Given the description of an element on the screen output the (x, y) to click on. 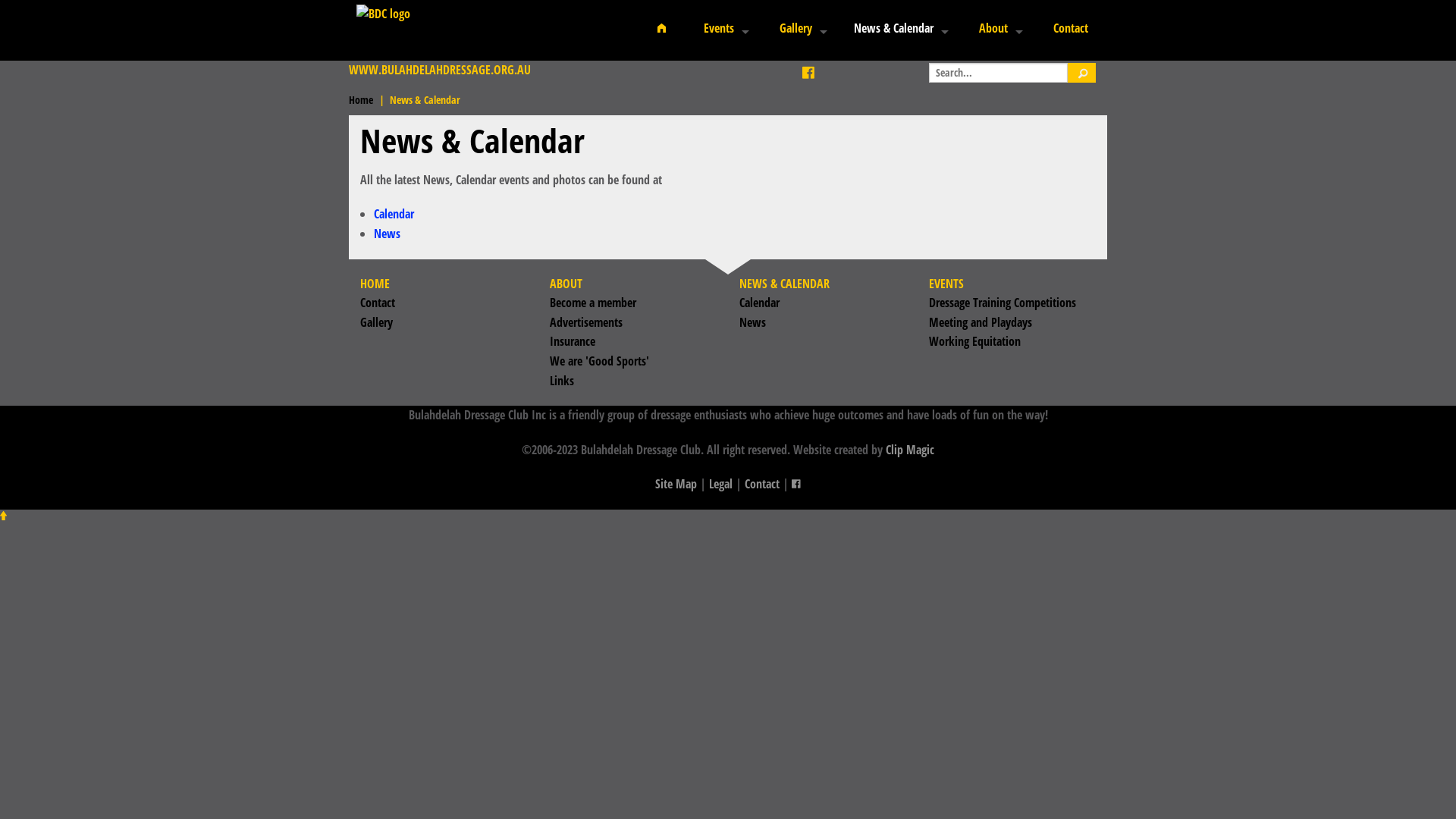
Working Equitation Element type: text (703, 132)
2018 February 4th Dressage Training Competition Element type: text (781, 507)
Clip Magic Element type: text (909, 449)
Site Map Element type: text (675, 483)
NEWS & CALENDAR Element type: text (784, 283)
Results from 2009 to 2018 Element type: text (591, 65)
2021 June 5th PLAYDAY Element type: text (781, 200)
2017 August 20th T-Shirt Compeition Element type: text (781, 610)
Calendar Element type: text (393, 213)
BDC & Stroud Working Equitation HOTY competition July 2023 Element type: text (781, 64)
News & Calendar Element type: text (899, 28)
Dressage Training Competitions Element type: text (703, 64)
Meeting and Playdays Element type: text (980, 321)
2016 October 16th T-Shirt Competition Element type: text (781, 712)
Calendar Element type: text (902, 64)
Home Element type: text (360, 99)
Working Equitation Element type: text (974, 340)
2017 December 9th Working Equitation Competition Element type: text (781, 541)
2019 Minutes Element type: text (591, 133)
News Element type: text (386, 233)
Events Element type: text (722, 28)
Advertisements Element type: text (585, 321)
2021 May 2nd Dressage Training Competition Element type: text (781, 234)
2019 February Dressage Training Competition Element type: text (781, 337)
Links Element type: text (561, 379)
Insurance Element type: text (572, 340)
2018 May Working Equitation PLAYDAY training Element type: text (781, 405)
Contact Element type: text (761, 483)
2017 May 13th Working Equitation PLAYDAY Element type: text (781, 644)
Calendar Element type: text (759, 302)
We are 'Good Sports' Element type: text (599, 360)
Gallery Element type: text (799, 28)
Dressage Training Competitions Element type: text (1002, 302)
2019 October Dressage Training Competition Element type: text (781, 268)
EVENTS Element type: text (945, 283)
Legal Element type: text (720, 483)
Insurance Element type: text (977, 132)
2021 November PLAYDAY Element type: text (781, 166)
2018 August Working Equitation Competition Element type: text (781, 371)
News Element type: text (902, 98)
Contact Element type: text (1070, 28)
ABOUT Element type: text (565, 283)
Gallery Element type: text (376, 321)
2017 October 15th T-Shirt Dressage Competition Element type: text (781, 575)
Become a member Element type: text (592, 302)
Meeting and Playdays Element type: text (703, 98)
See us on Facebook Element type: hover (822, 72)
Advertisements Element type: text (977, 98)
News Element type: text (752, 321)
2023 February PLAYDAY Element type: text (781, 132)
Links Element type: text (977, 200)
Recent Results Element type: text (591, 99)
Contact Element type: text (377, 302)
June 4th 2023 Winners Element type: text (781, 98)
Become a member Element type: text (977, 64)
2018 March 3rd Working Equitation PLAYDAY Element type: text (781, 473)
HOME Element type: text (374, 283)
About Element type: text (997, 28)
2018 Easter Working Equitation Dressage Day Element type: text (781, 439)
2019 June 2nd Dressage Training T-Shirt Day Element type: text (781, 302)
WWW.BULAHDELAHDRESSAGE.ORG.AU Element type: text (439, 69)
2017 March 11th Kim's Equitation Day Element type: text (781, 678)
We are 'Good Sports' Element type: text (977, 166)
